Given the description of an element on the screen output the (x, y) to click on. 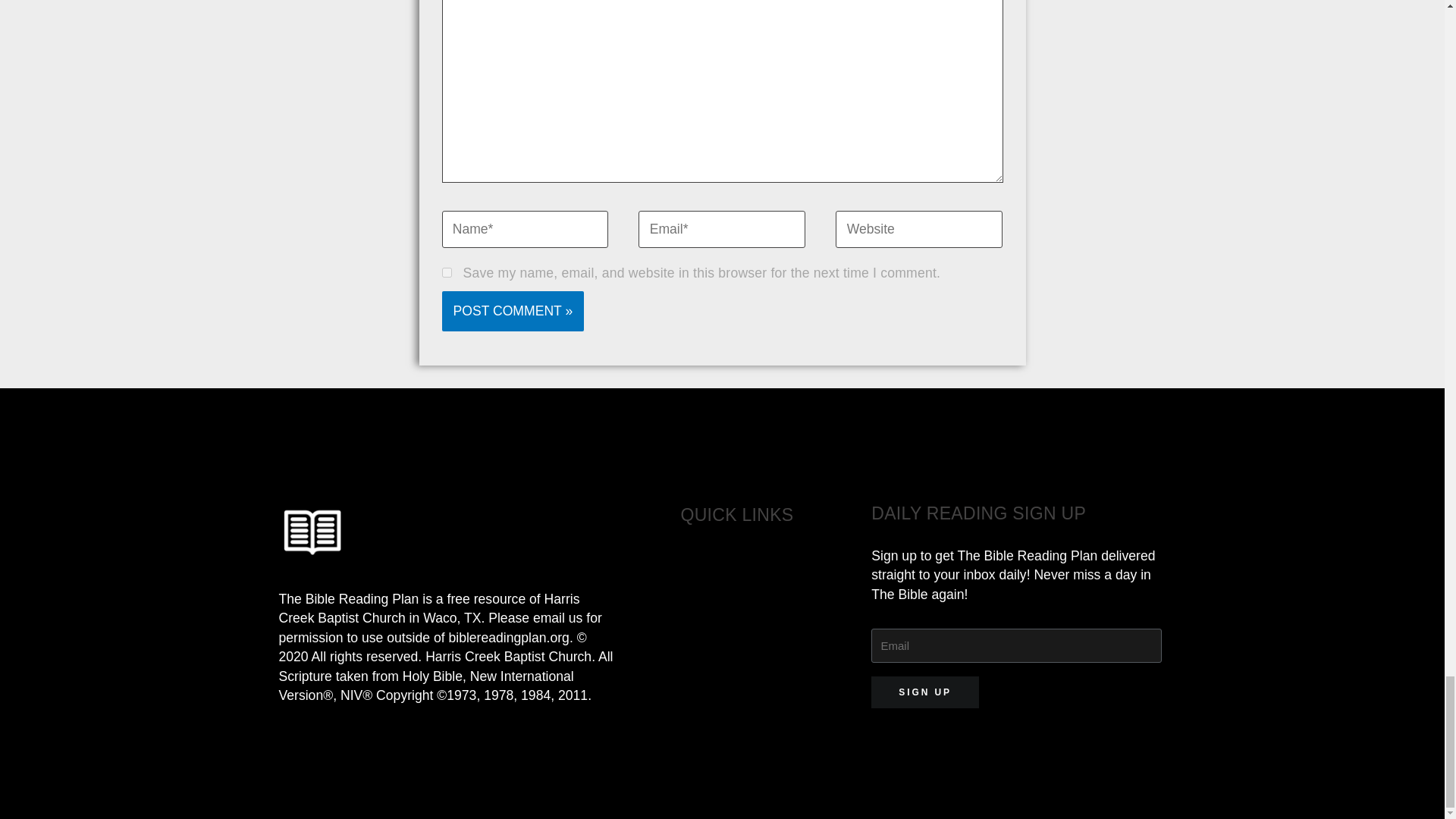
yes (446, 272)
biblereadingplan-brand-iconsmall (312, 533)
SIGN UP (924, 692)
